Given the description of an element on the screen output the (x, y) to click on. 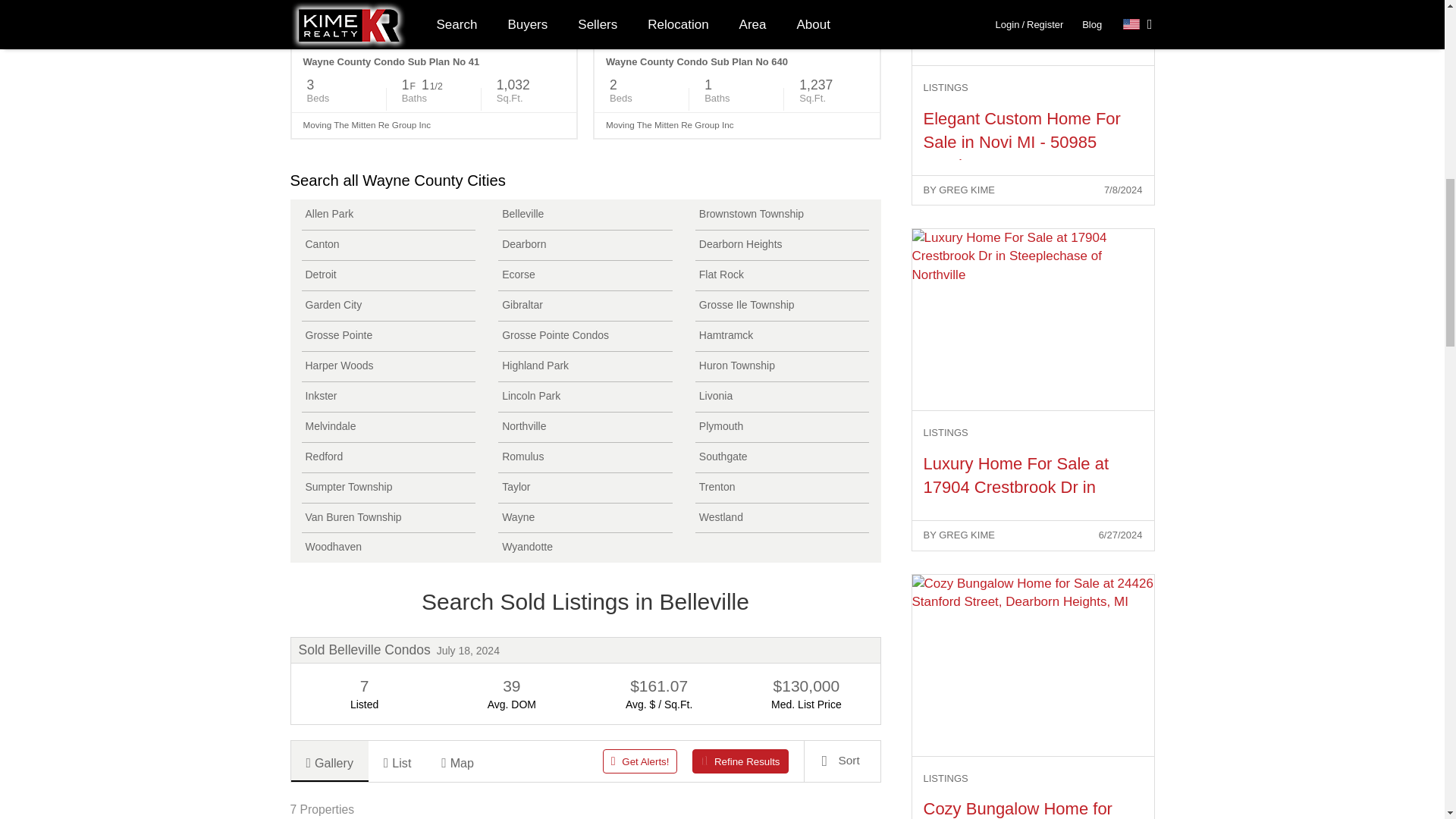
View Brownstown Township (782, 214)
408 Estrada Dr Belleville,  MI 48111 (433, 23)
View Belleville (584, 214)
View Allen Park (388, 214)
